Given the description of an element on the screen output the (x, y) to click on. 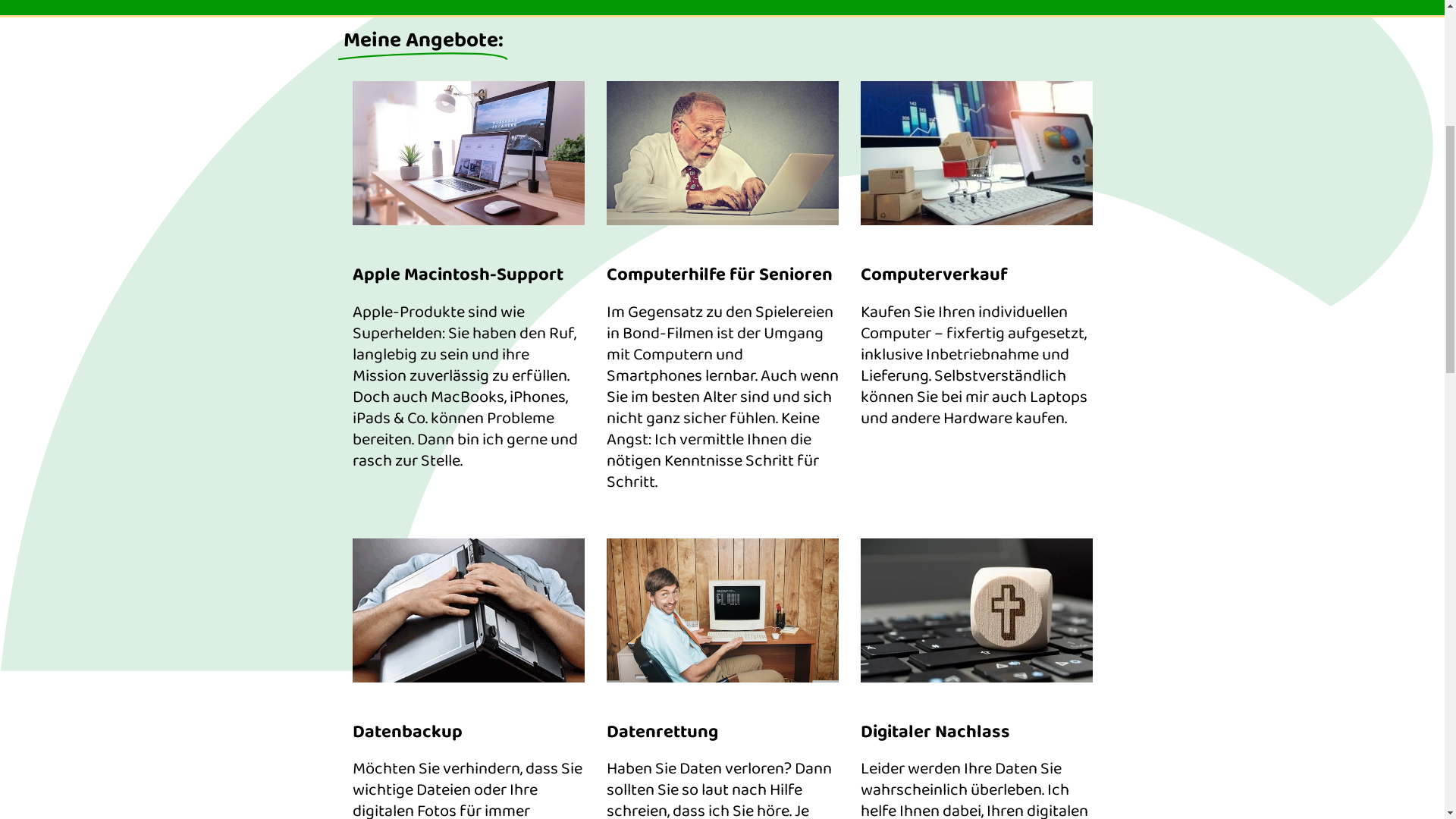
Computerverkauf Element type: text (785, 163)
KONTAKT Element type: text (722, 114)
PC-Service und -Reparatur Element type: text (570, 190)
Datenbackup Element type: text (902, 163)
ANGEBOT Element type: text (517, 114)
Updates Element type: text (960, 190)
Apple Macintosh-Support Element type: text (433, 163)
120 Google-Bewertungen Element type: text (1019, 71)
PREISE Element type: text (621, 114)
FAQ Element type: text (812, 114)
Datenrettung Element type: text (1005, 163)
Digitaler Nachlass Element type: text (408, 190)
